Given the description of an element on the screen output the (x, y) to click on. 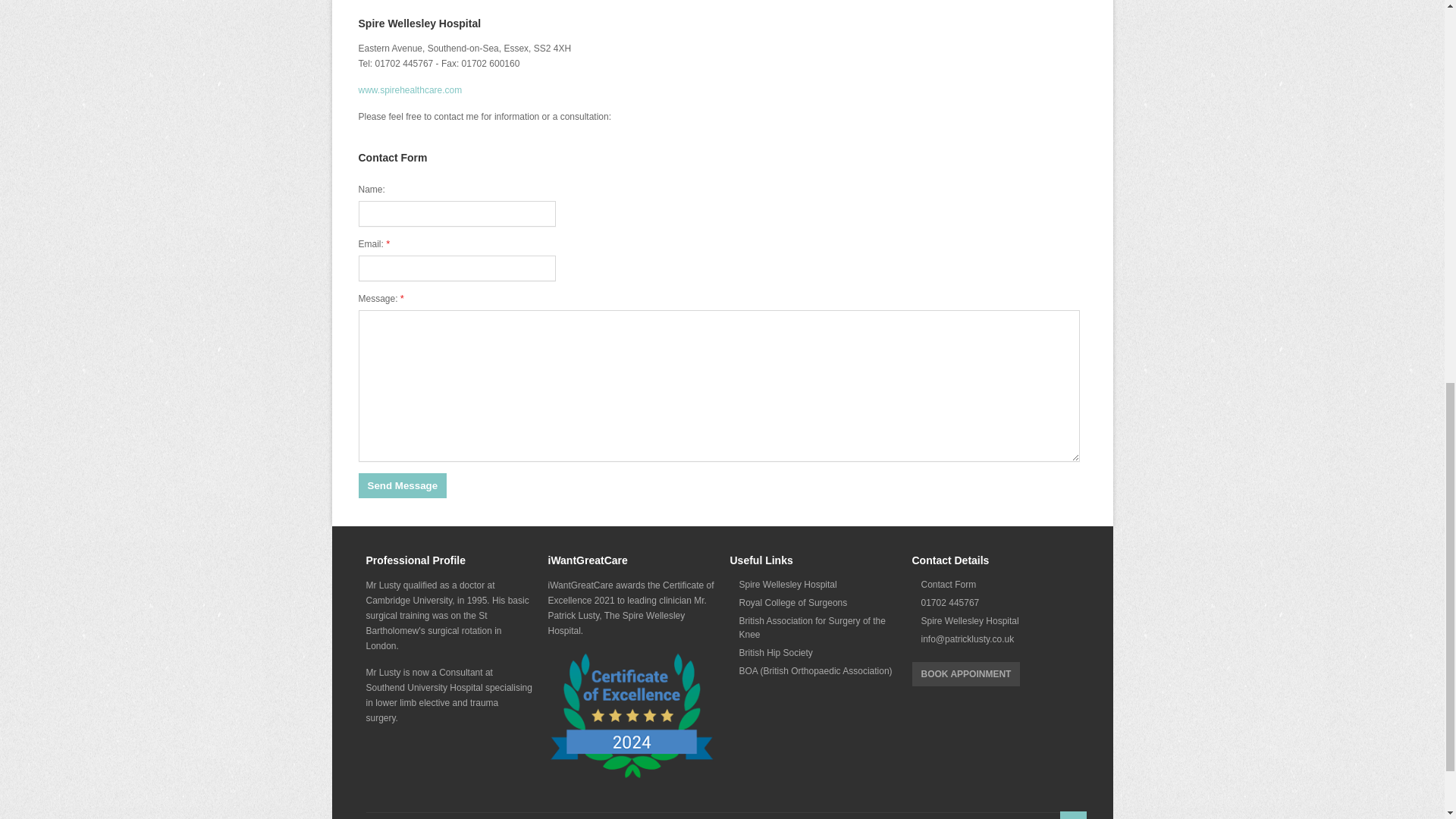
British Hip Society (812, 652)
Contact Form (994, 584)
Royal College of Surgeons (812, 602)
Send Message (402, 485)
British Association for Surgery of the Knee (812, 627)
BOOK APPOINMENT (965, 673)
Spire Wellesley Hospital (812, 584)
01702 445767 (994, 602)
Spire Wellesley Hospital (994, 620)
www.spirehealthcare.com (409, 90)
